Given the description of an element on the screen output the (x, y) to click on. 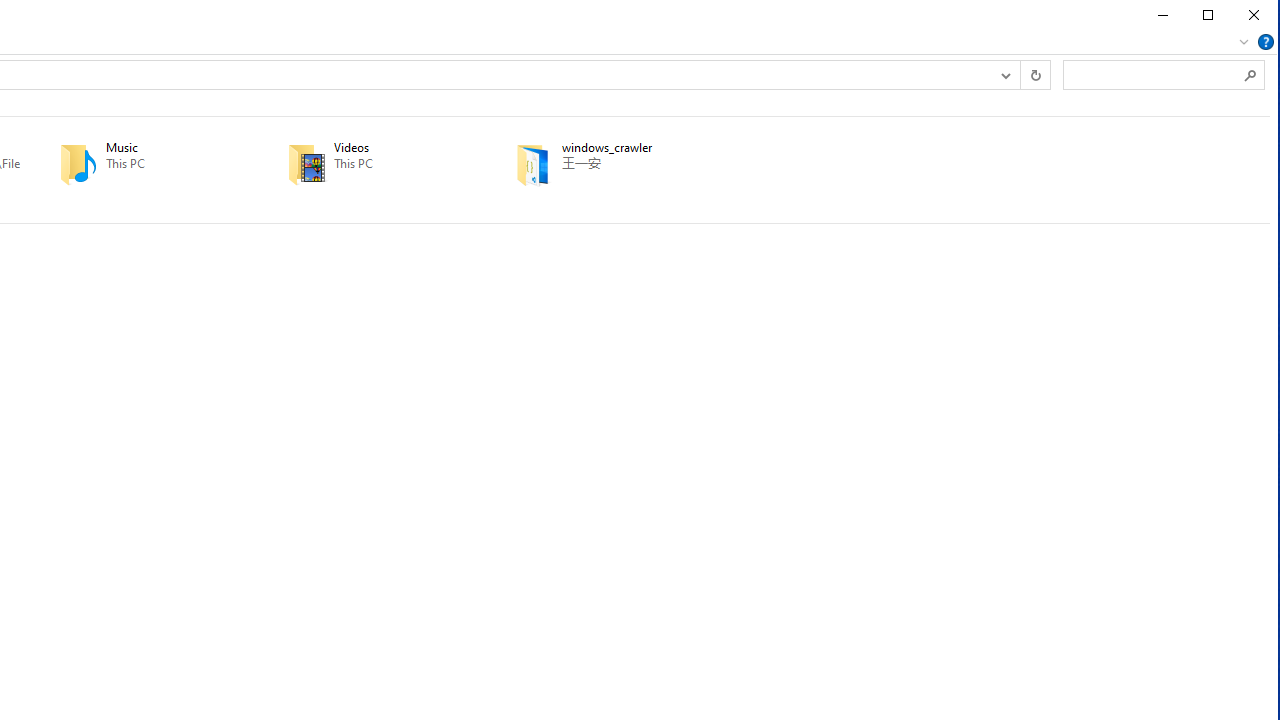
Pinned (634, 179)
windows_crawler (600, 164)
Refresh "Quick access" (F5) (1034, 74)
Maximize (1208, 15)
Videos (373, 164)
Search (1250, 74)
Minimize the Ribbon (1243, 41)
Address band toolbar (1019, 74)
Music (145, 164)
Help (1265, 41)
Minimize (1161, 15)
Close (1254, 15)
Search Box (1153, 74)
Path (634, 163)
Name (634, 147)
